Given the description of an element on the screen output the (x, y) to click on. 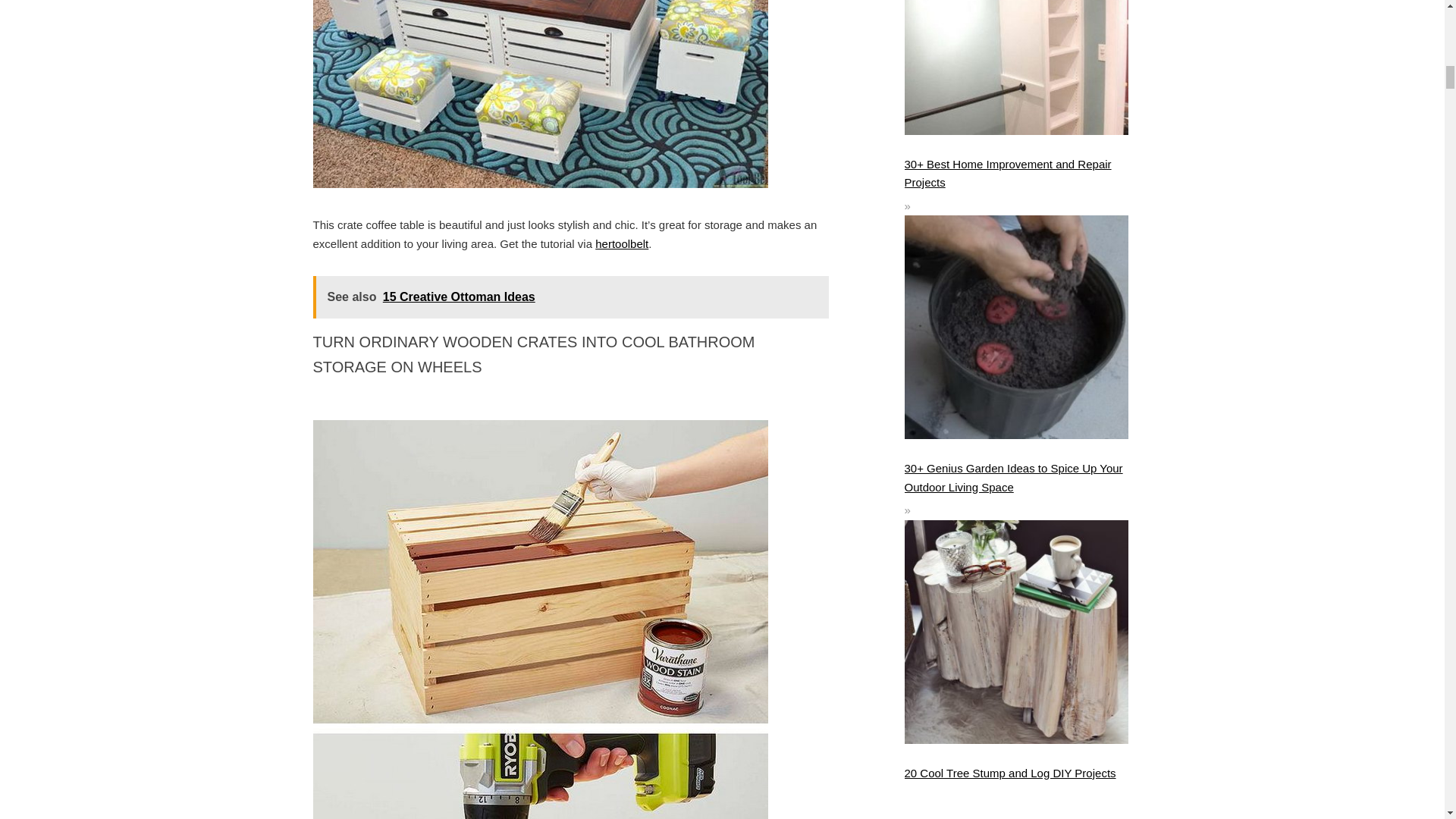
hertoolbelt (621, 243)
See also  15 Creative Ottoman Ideas (570, 297)
